Given the description of an element on the screen output the (x, y) to click on. 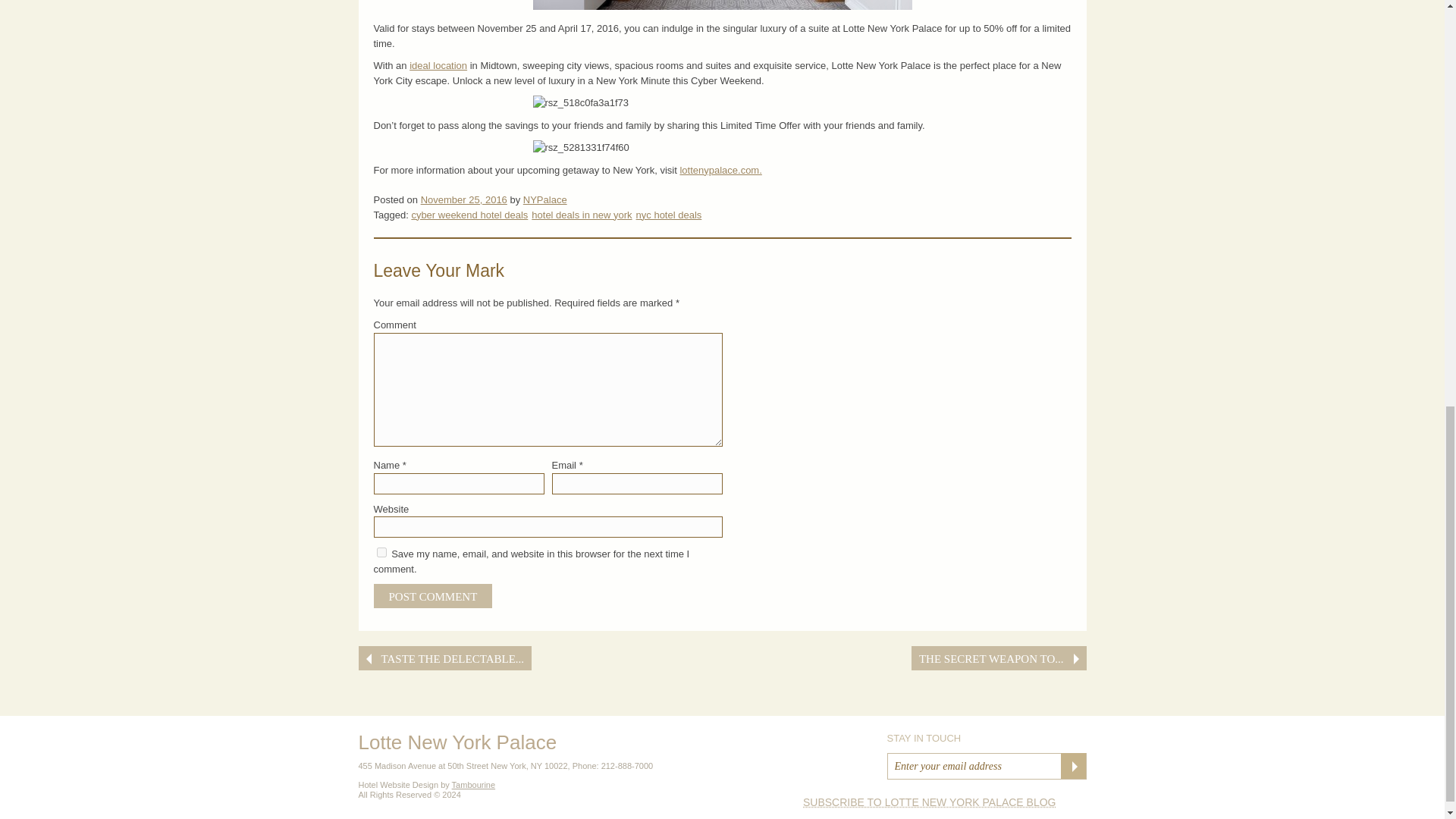
Syndicate this site using RSS (944, 801)
yes (380, 552)
Really Simple Syndication (930, 802)
Post Comment (432, 595)
View all posts by NYPalace (544, 199)
Submit (1071, 765)
Like (954, 603)
Tweet (1006, 603)
5:20 pm (463, 199)
